Given the description of an element on the screen output the (x, y) to click on. 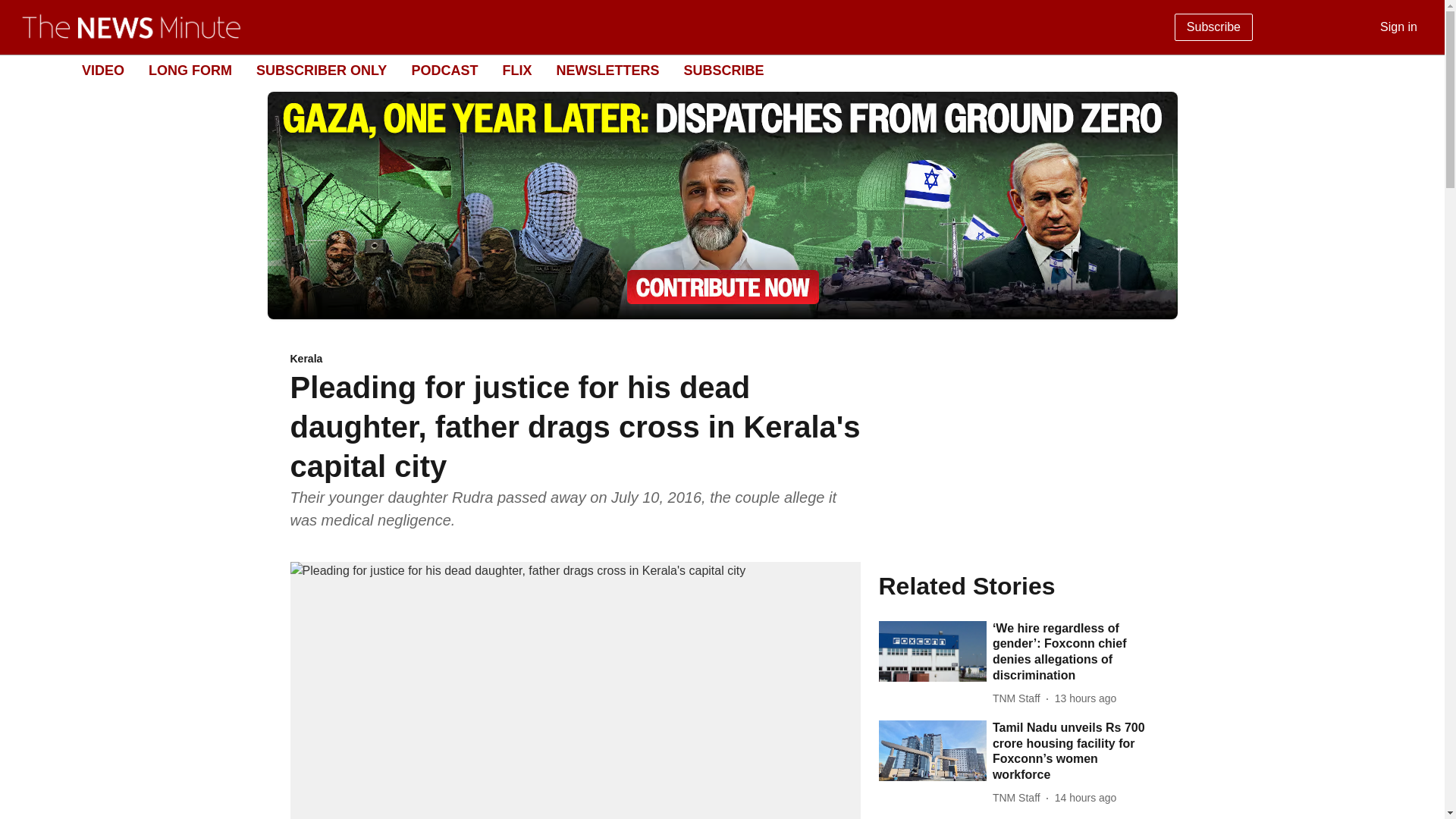
FLIX (516, 70)
PODCAST (443, 70)
NEWSLETTERS (607, 70)
LONG FORM (189, 70)
SUBSCRIBER ONLY (321, 70)
Dark Mode (1415, 70)
Related Stories (1015, 585)
2024-08-18 13:37 (1085, 698)
VIDEO (102, 70)
2024-08-18 13:34 (1085, 797)
